Given the description of an element on the screen output the (x, y) to click on. 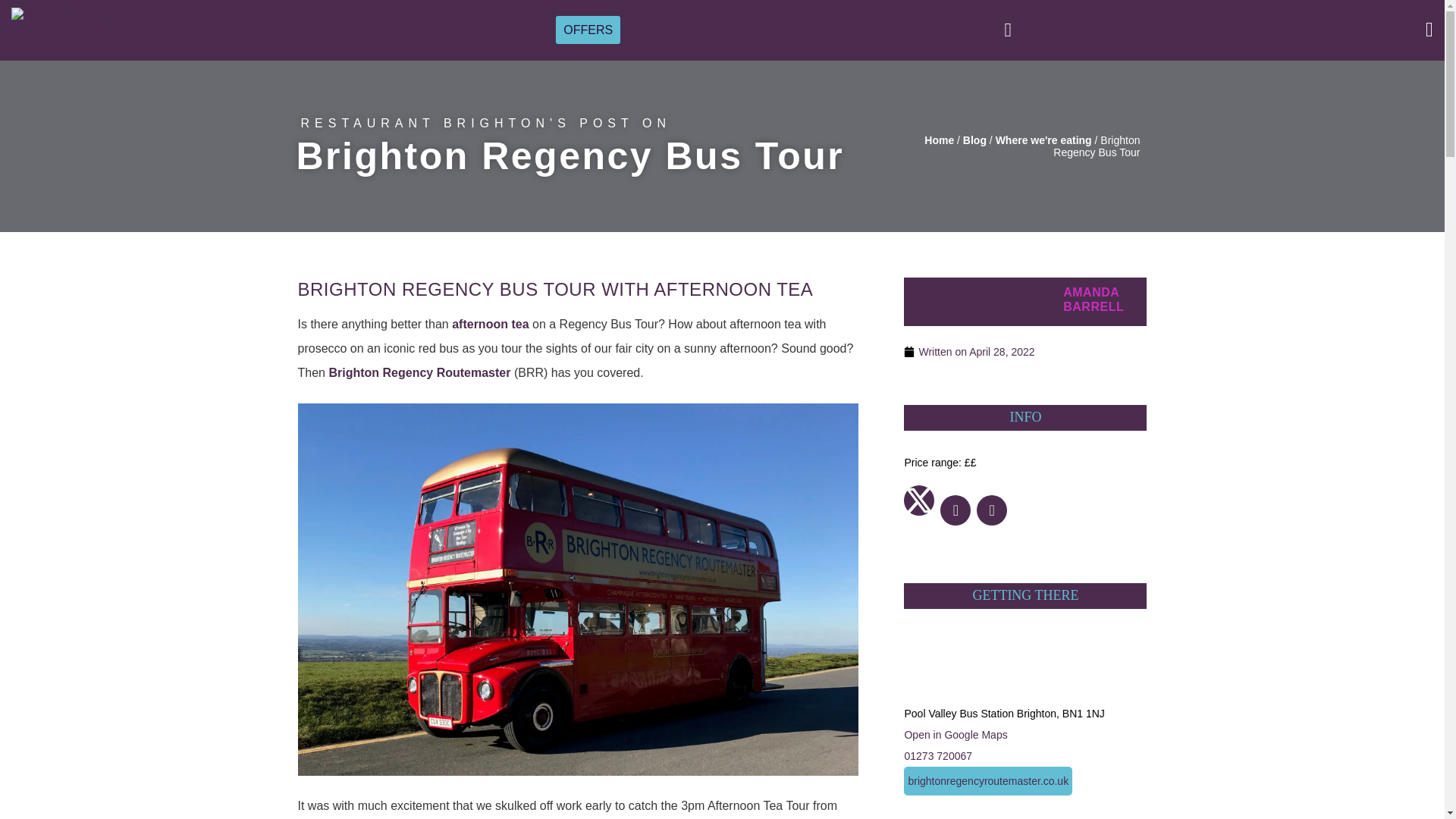
OFFERS (588, 29)
